Given the description of an element on the screen output the (x, y) to click on. 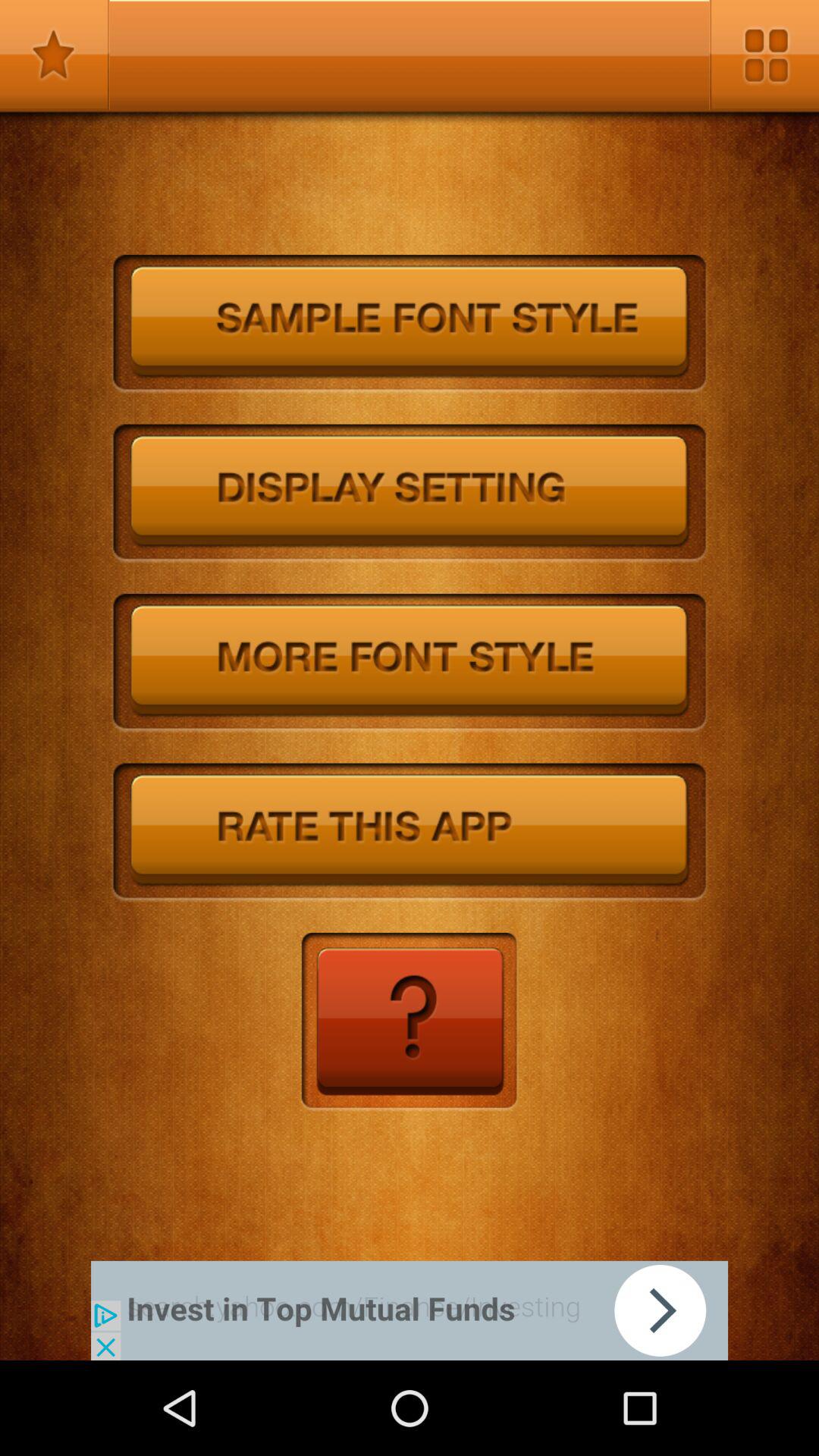
question button (408, 1021)
